Given the description of an element on the screen output the (x, y) to click on. 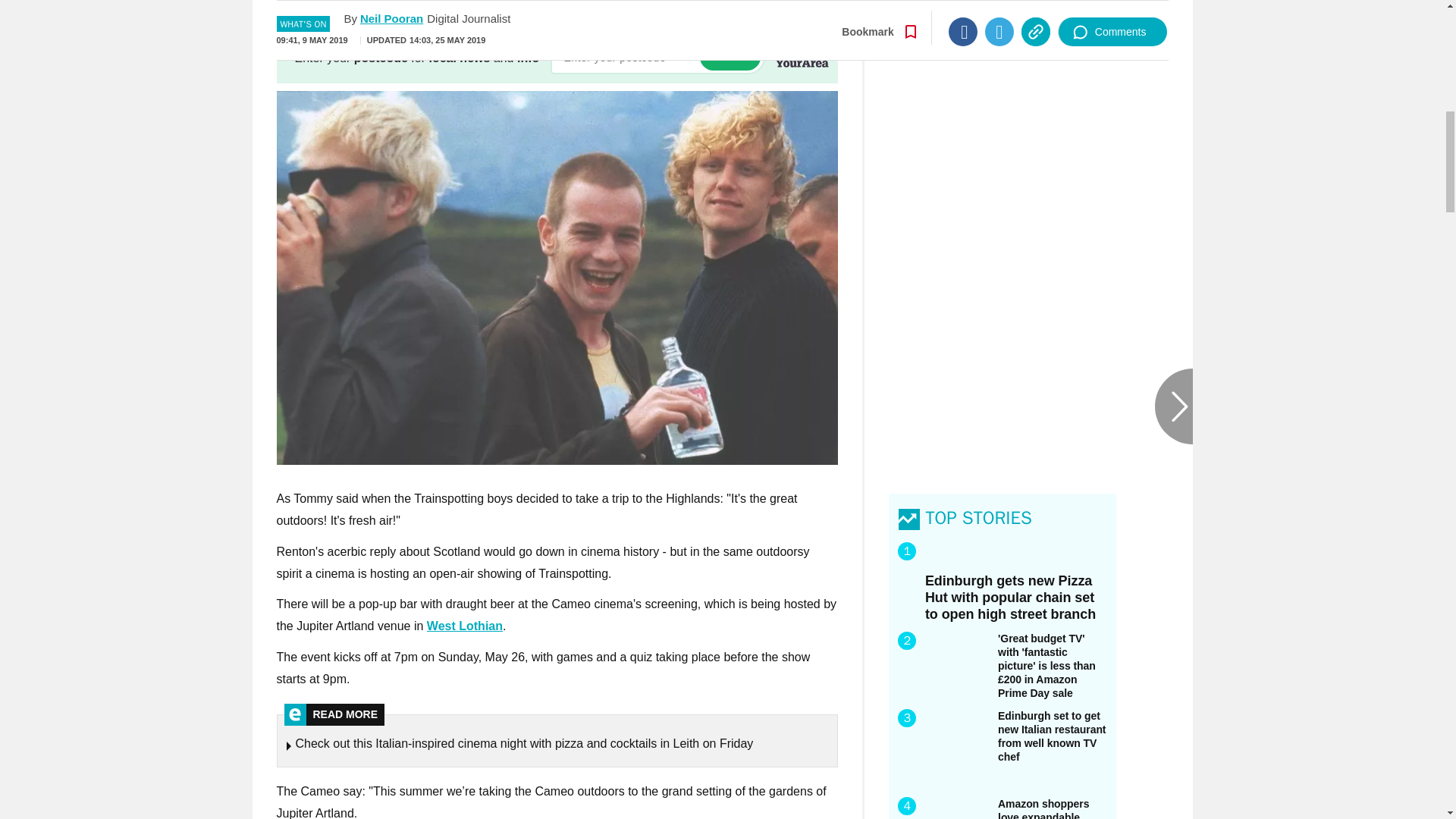
Go (730, 57)
